Given the description of an element on the screen output the (x, y) to click on. 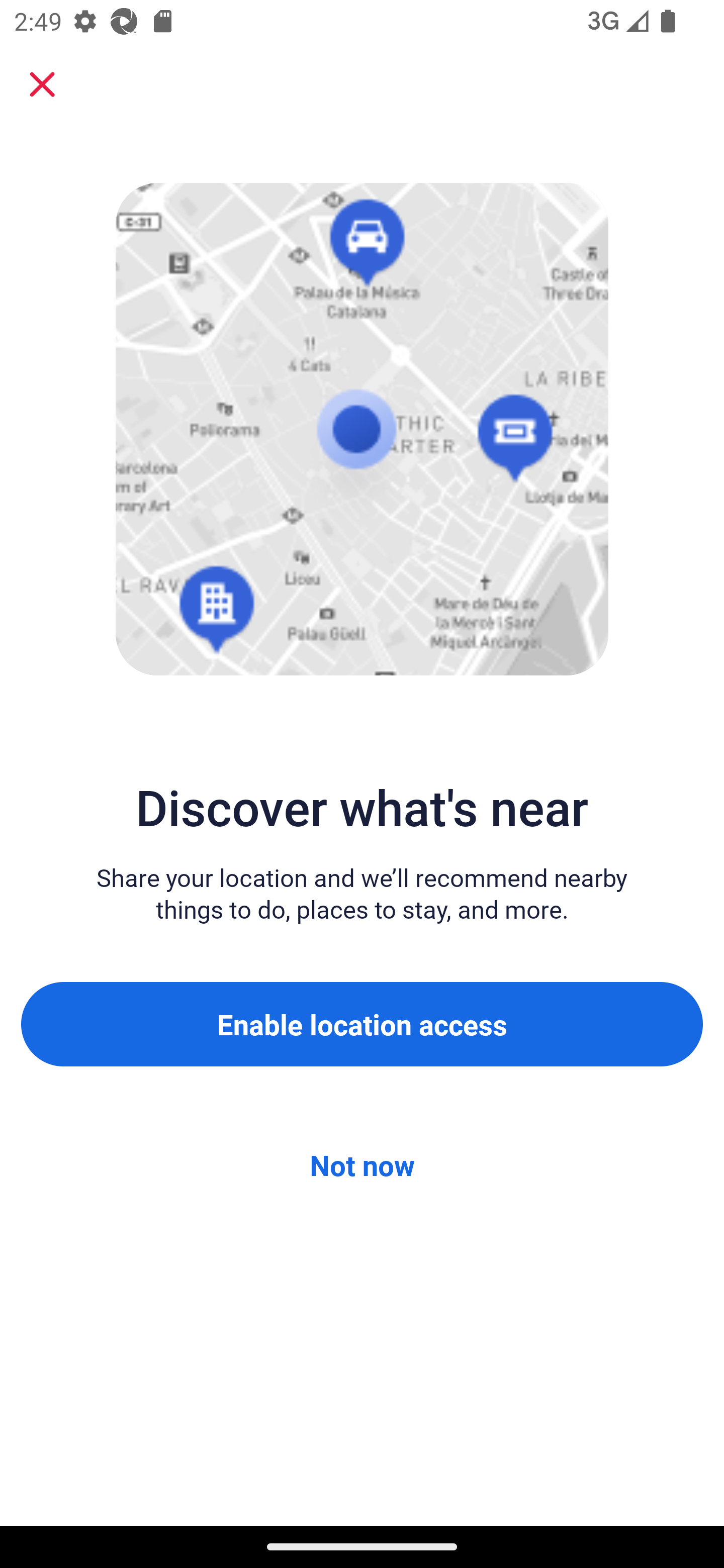
Close sheet (42, 84)
Enable location access (361, 1023)
Not now (362, 1164)
